Given the description of an element on the screen output the (x, y) to click on. 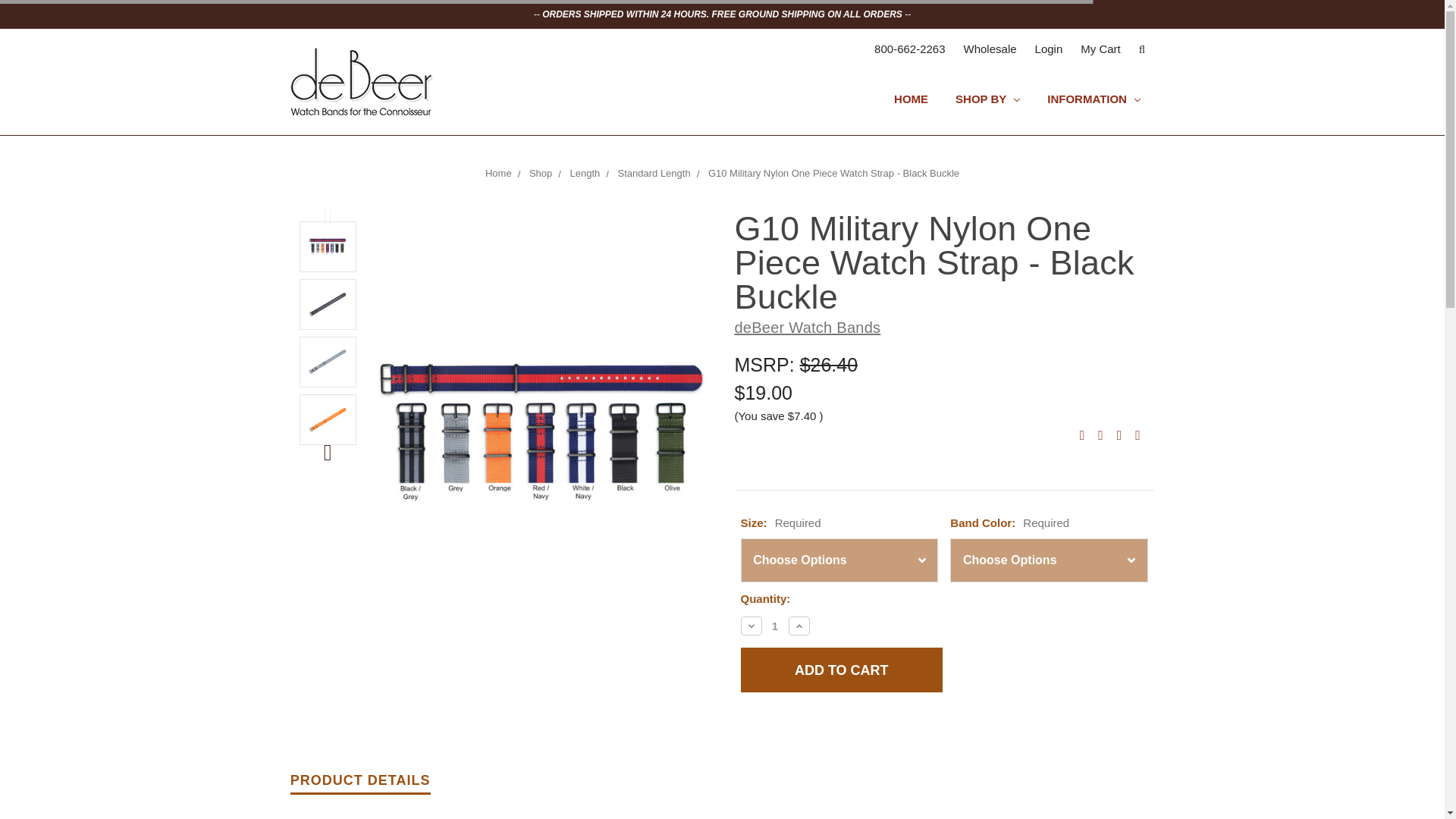
Wholesale (990, 49)
Login (1048, 49)
800-662-2263 (908, 49)
1 (774, 625)
My Cart (1100, 49)
HOME (911, 101)
deBeer Watch Bands (361, 81)
Add to Cart (840, 669)
Grey PVD black buckle nylon replacement watch band (327, 361)
Orange PVD black buckle nylon replacement watch band (327, 418)
G10 Military Ballistic Nylon PVD black Buckle (542, 432)
G10 Military Ballistic Nylon PVD black Buckle (327, 246)
